Given the description of an element on the screen output the (x, y) to click on. 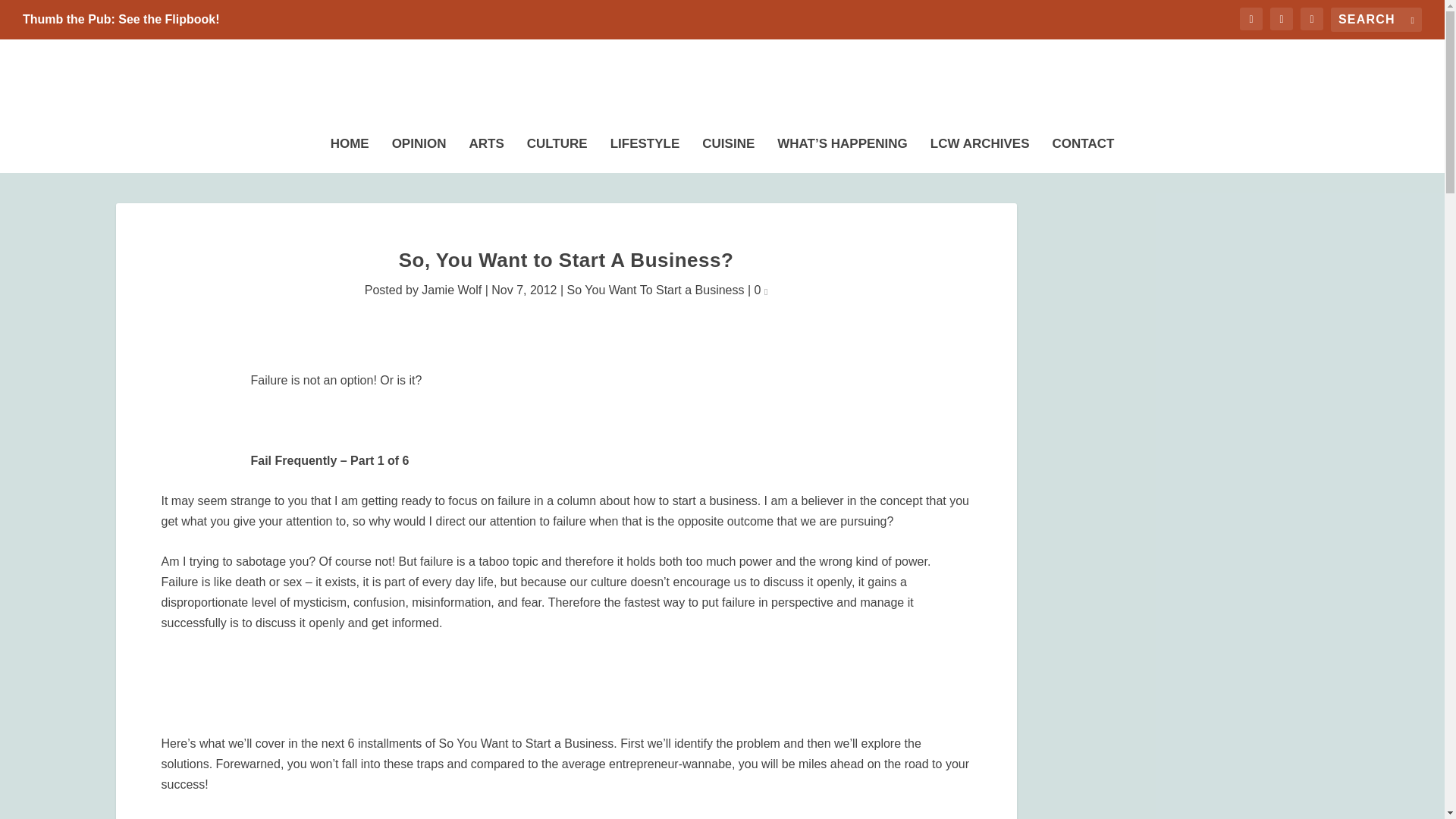
CULTURE (557, 151)
HOME (349, 151)
Search for: (1376, 19)
Thumb the Pub: See the Flipbook! (121, 19)
Jamie Wolf (451, 289)
ARTS (485, 151)
LCW ARCHIVES (979, 151)
CUISINE (727, 151)
comment count (765, 291)
So You Want To Start a Business (655, 289)
0 (761, 289)
OPINION (418, 151)
CONTACT (1083, 151)
Posts by Jamie Wolf (451, 289)
LIFESTYLE (644, 151)
